Given the description of an element on the screen output the (x, y) to click on. 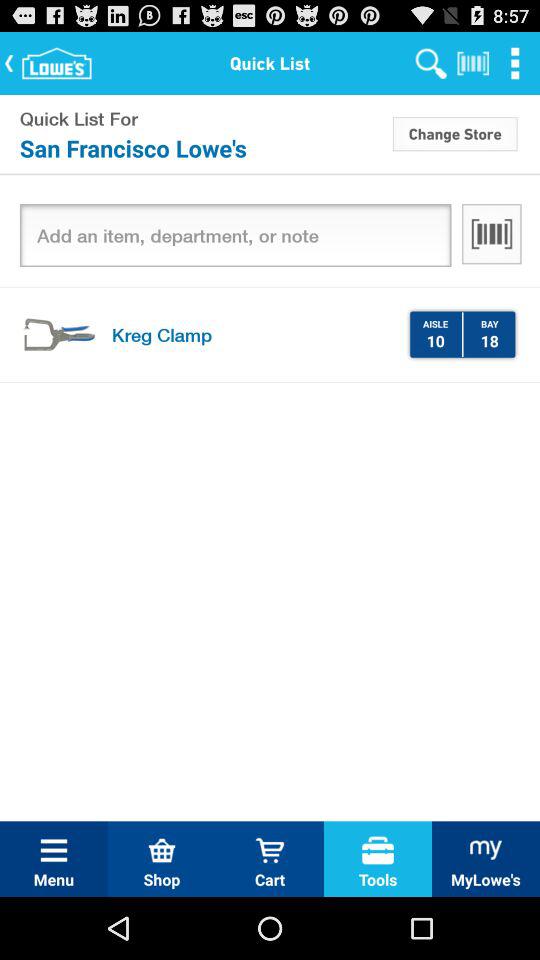
launch the app to the left of aisle icon (251, 334)
